Given the description of an element on the screen output the (x, y) to click on. 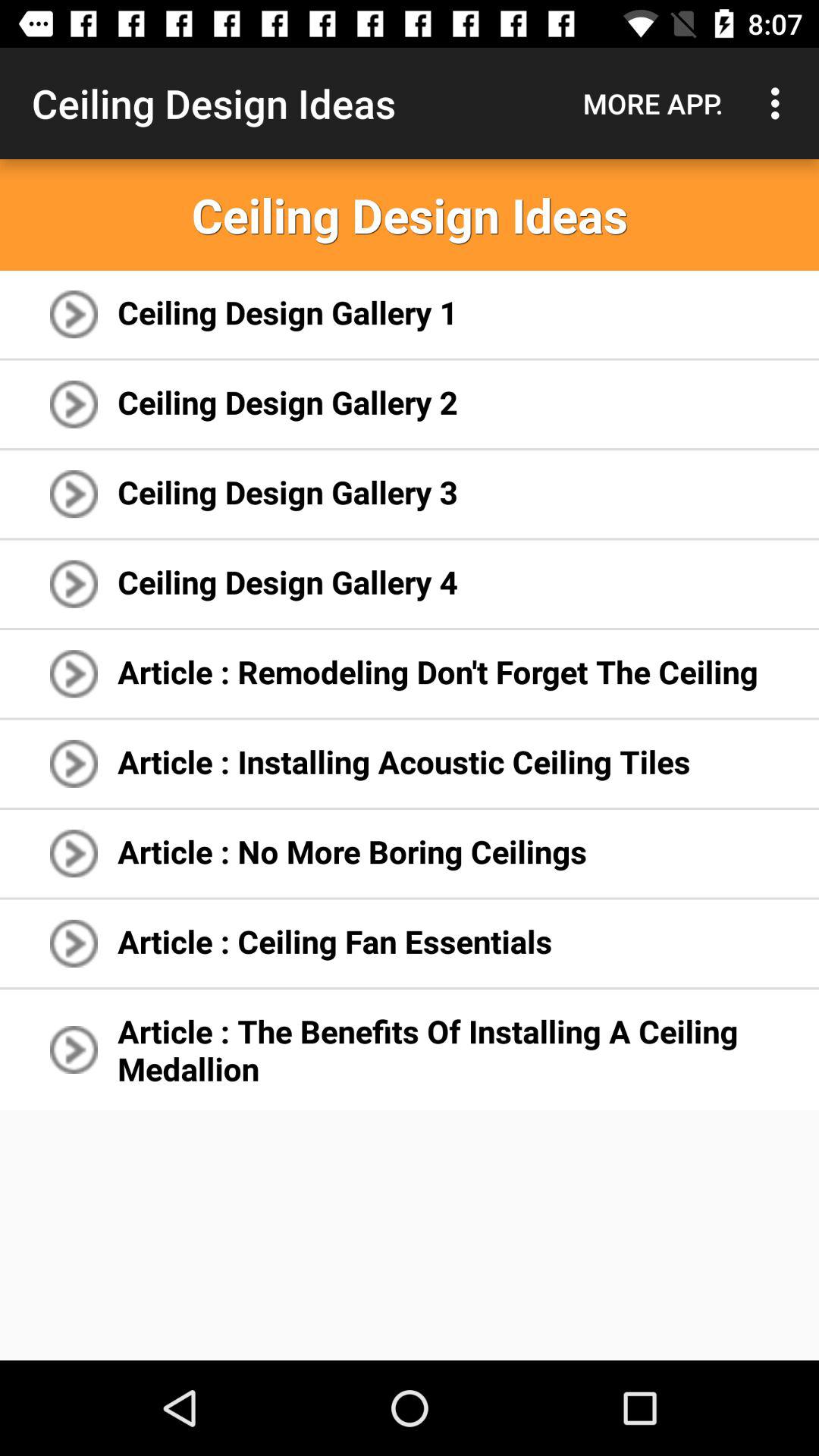
choose icon above the ceiling design ideas app (779, 103)
